Given the description of an element on the screen output the (x, y) to click on. 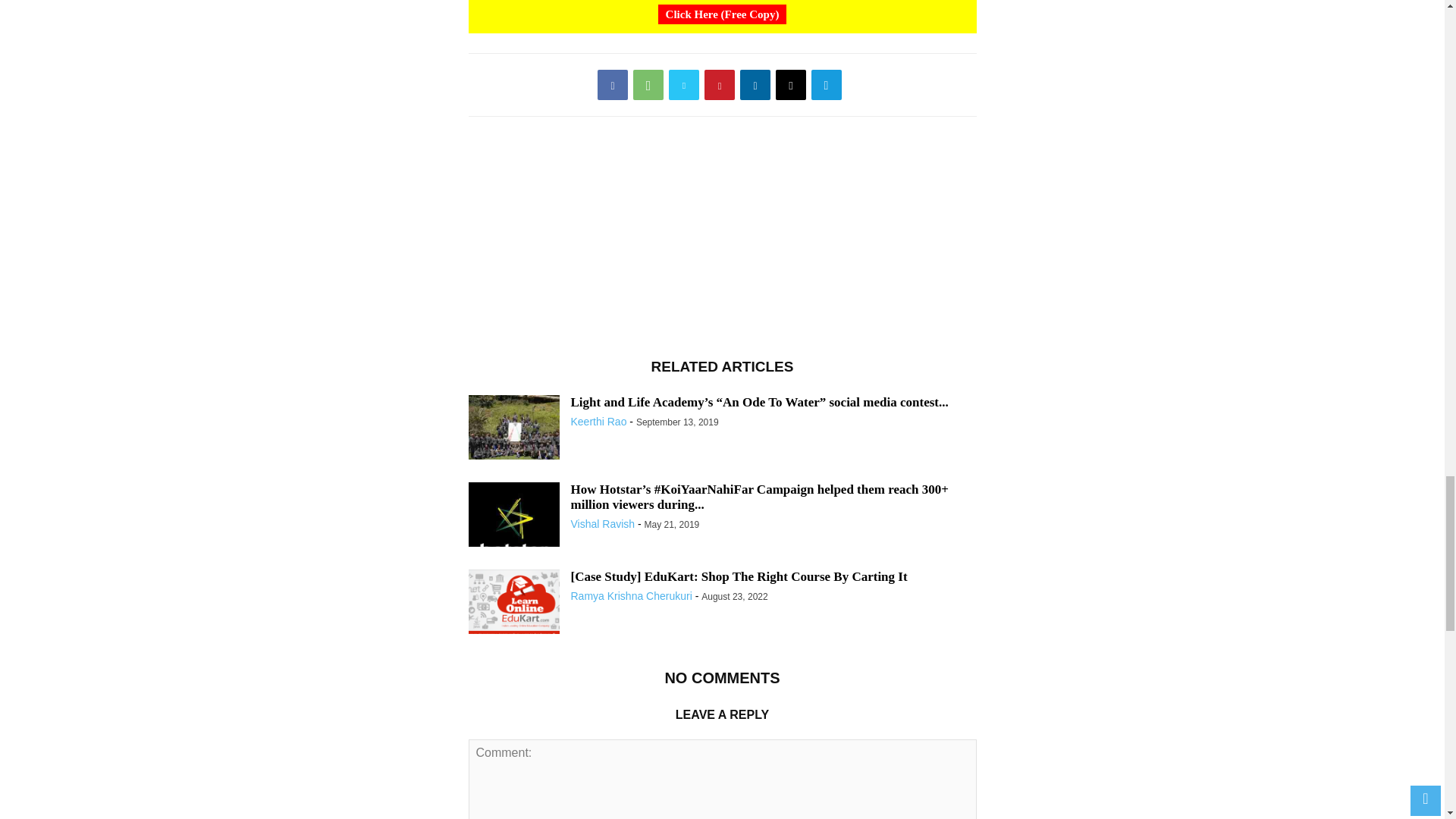
Vishal Ravish (602, 523)
Keerthi Rao (598, 421)
Ramya Krishna Cherukuri (630, 595)
